Given the description of an element on the screen output the (x, y) to click on. 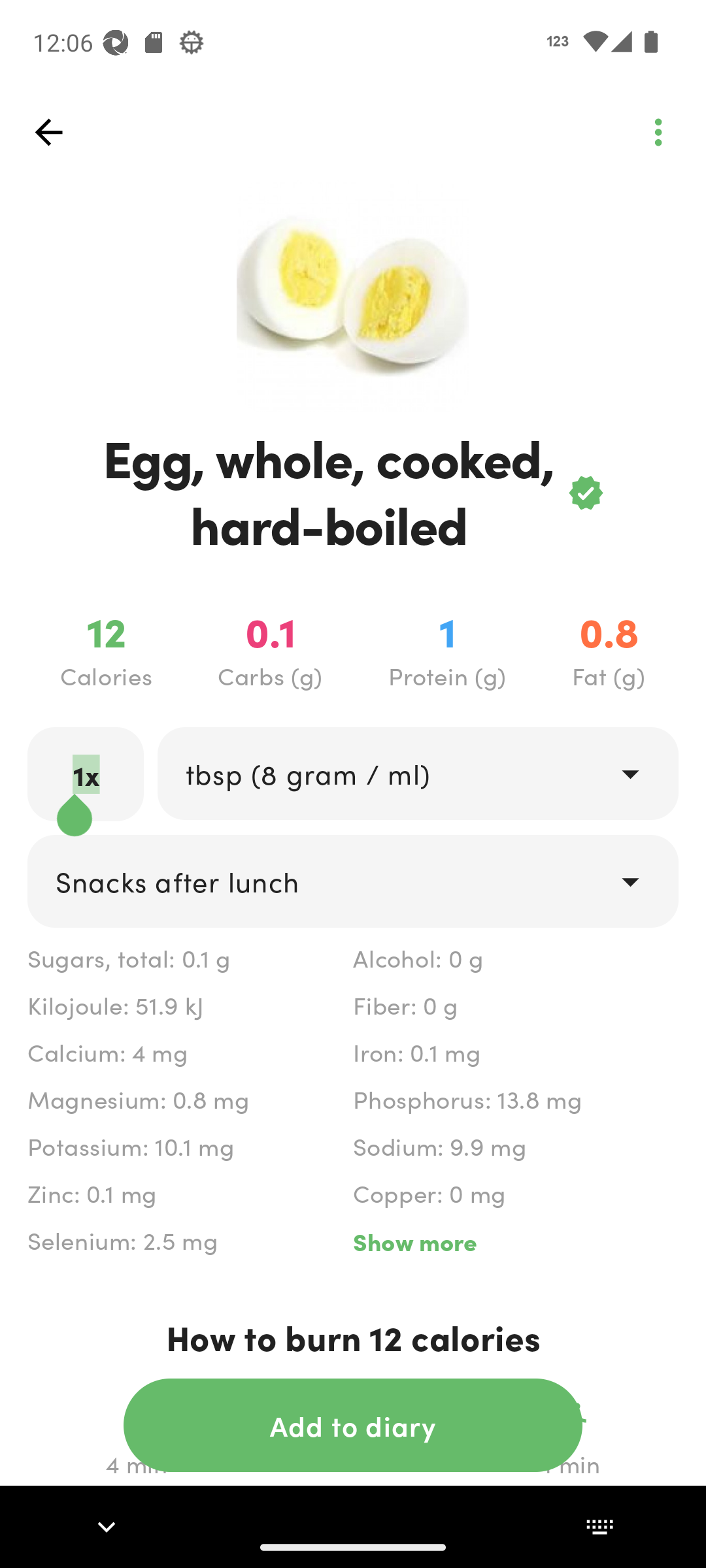
top_left_action (48, 132)
top_left_action (658, 132)
1x labeled_edit_text (85, 774)
drop_down tbsp (8 gram / ml) (417, 773)
drop_down Snacks after lunch (352, 881)
Show more (515, 1240)
action_button Add to diary (352, 1425)
